Given the description of an element on the screen output the (x, y) to click on. 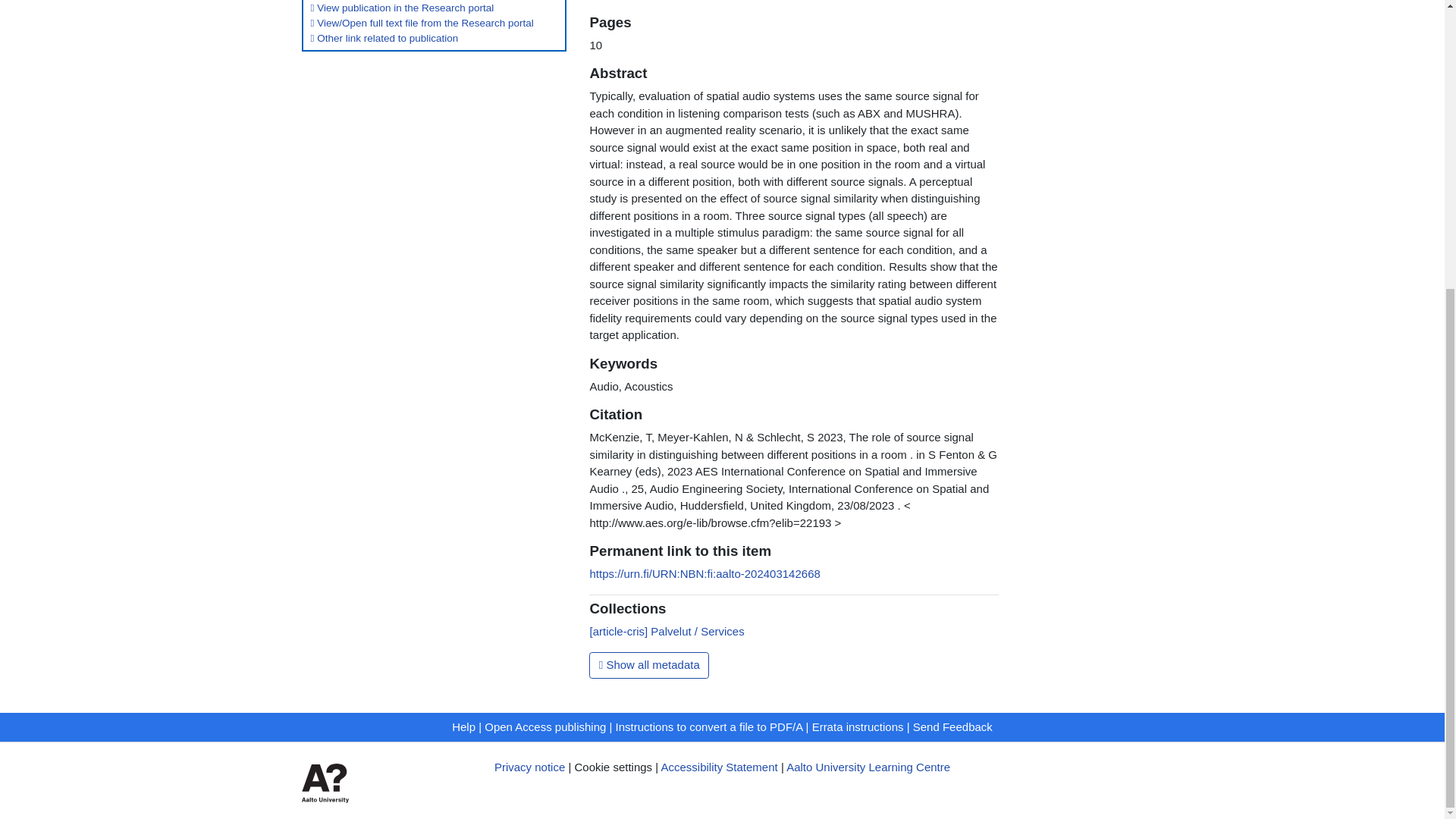
Show all metadata (649, 664)
Errata instructions (858, 726)
Privacy notice (529, 766)
Accessibility Statement (719, 766)
Aalto University Learning Centre (868, 766)
Cookie settings (613, 766)
Help (463, 726)
View publication in the Research portal (403, 7)
Send Feedback (952, 726)
Open Access publishing (544, 726)
Other link related to publication (384, 38)
